Given the description of an element on the screen output the (x, y) to click on. 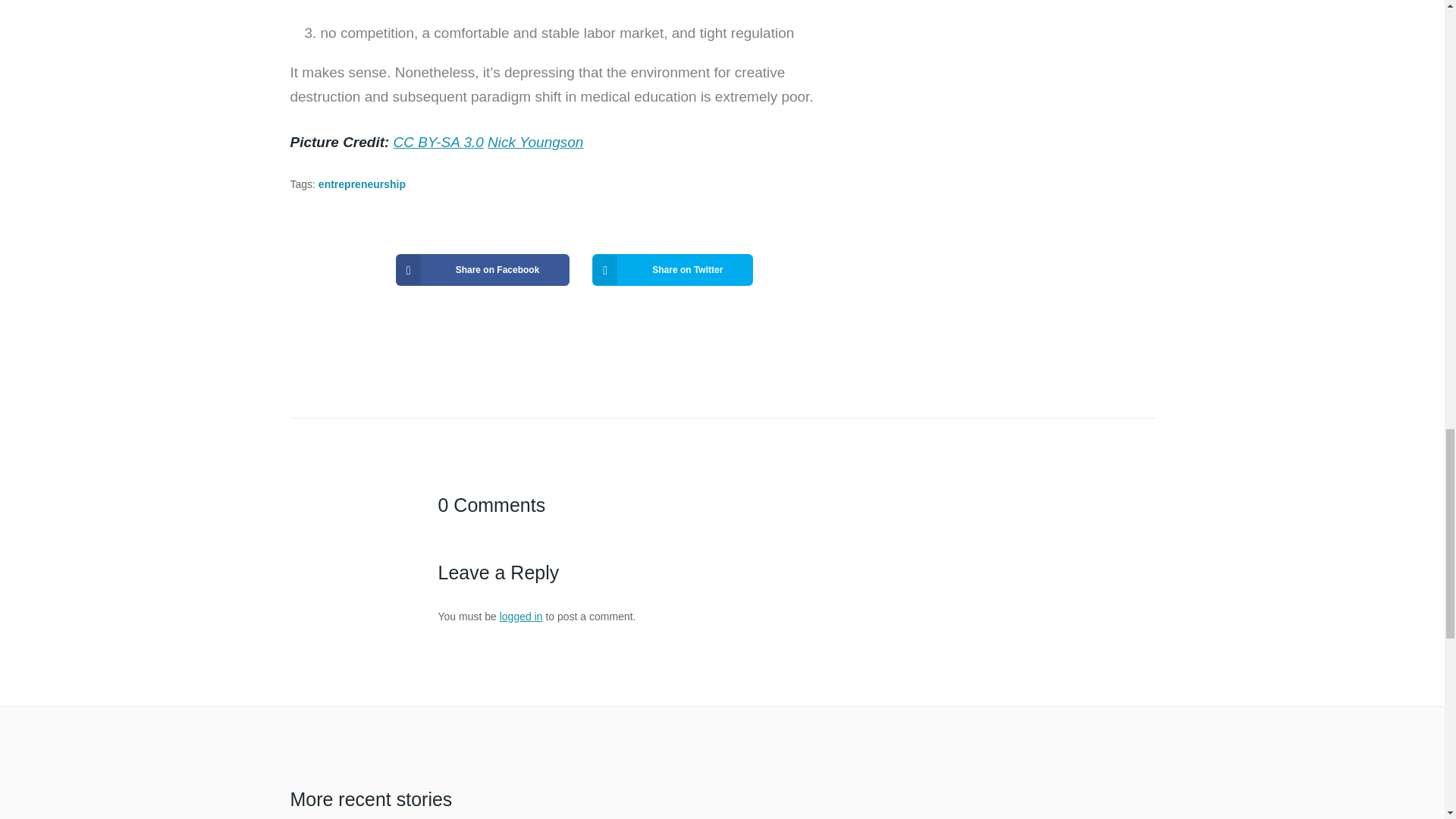
Share on Facebook (483, 269)
logged in (521, 616)
Share on Twitter (672, 269)
CC BY-SA 3.0 (438, 141)
Nick Youngson (535, 141)
entrepreneurship (362, 184)
